Given the description of an element on the screen output the (x, y) to click on. 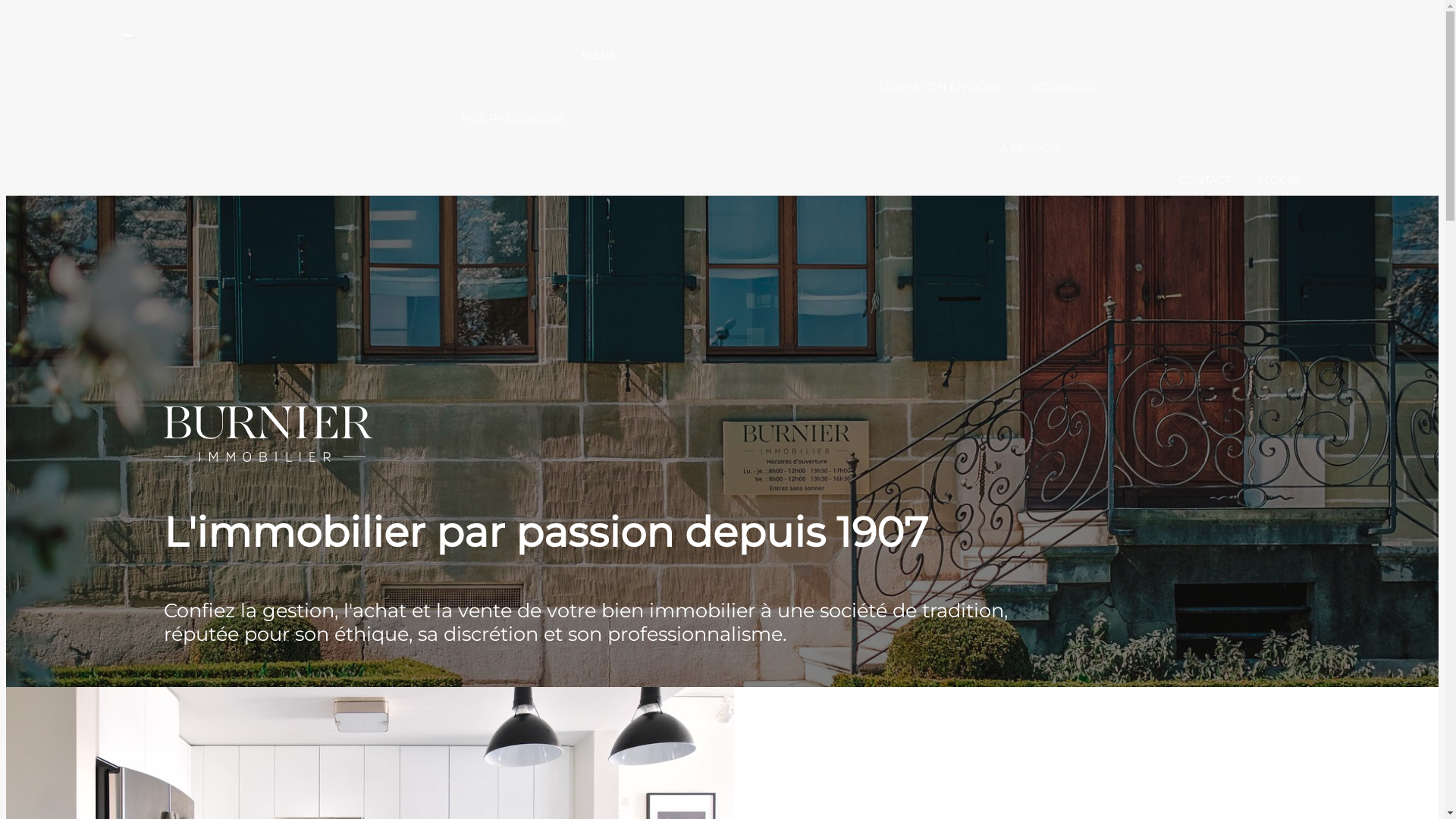
NOS PRESTATIONS Element type: text (512, 118)
| LOGIN Element type: text (1278, 179)
CONTACT Element type: text (1204, 179)
A PROPOS Element type: text (1028, 148)
BIENS Element type: text (598, 55)
ESTIMATION EN LIGNE Element type: text (940, 86)
